Given the description of an element on the screen output the (x, y) to click on. 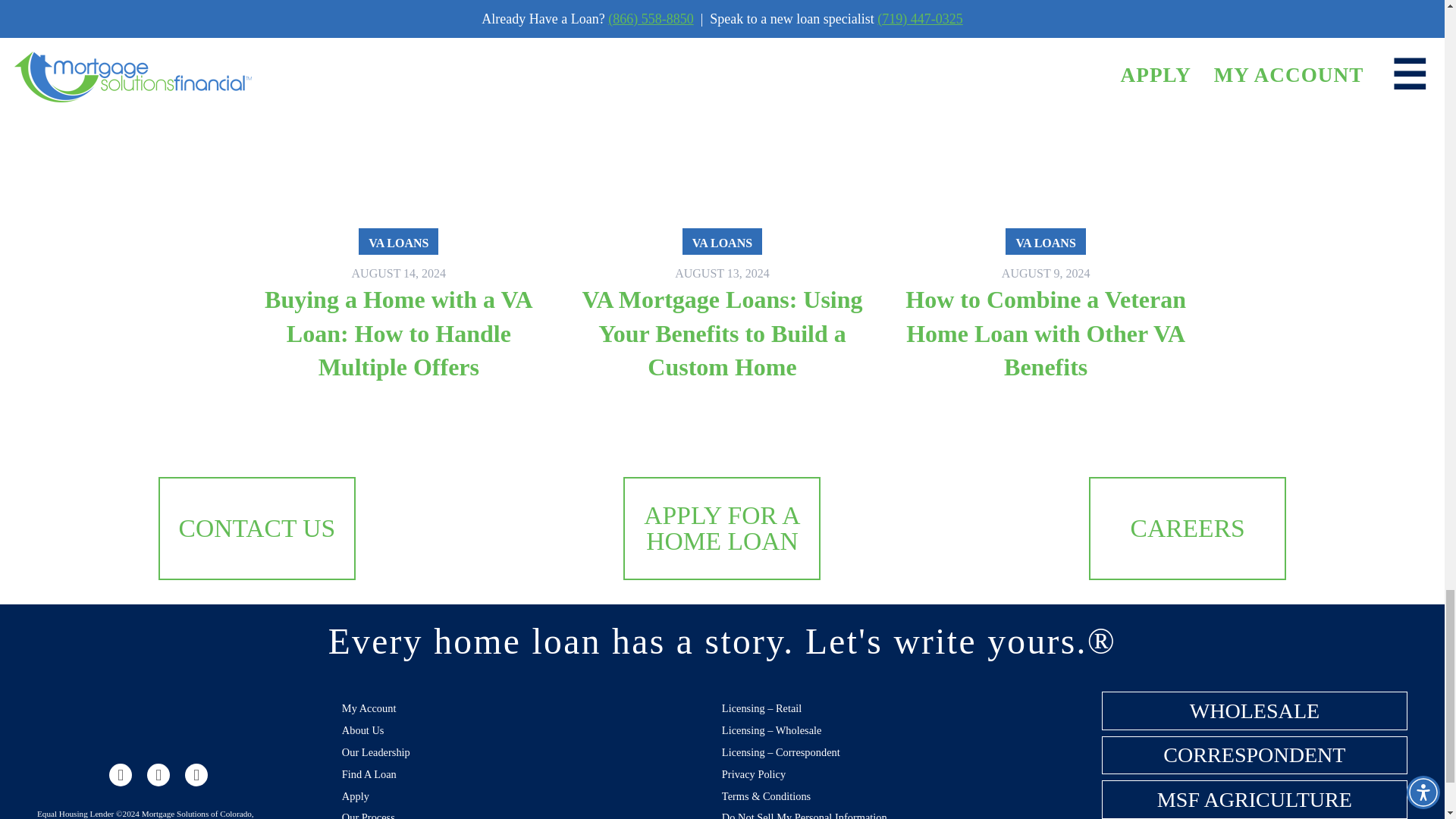
Read more (398, 333)
Read more (1045, 249)
CAREERS (1187, 527)
VA LOANS (721, 241)
APPLY FOR A HOME LOAN (721, 528)
CONTACT US (256, 527)
How to Combine a Veteran Home Loan with Other VA Benefits (1045, 333)
Buying a Home with a VA Loan: How to Handle Multiple Offers (398, 333)
VA LOANS (1045, 241)
